Given the description of an element on the screen output the (x, y) to click on. 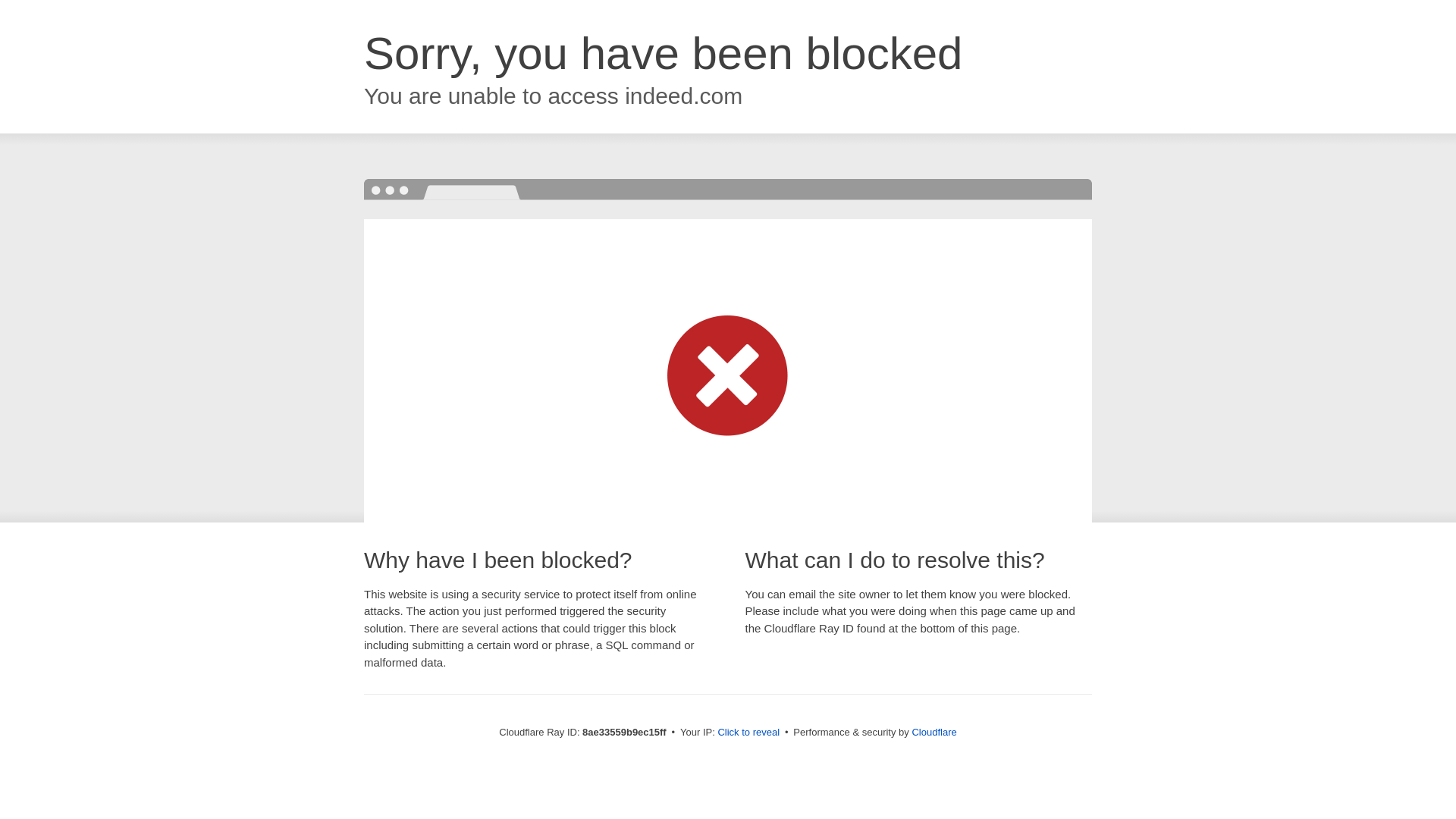
Cloudflare (933, 731)
Click to reveal (747, 732)
